Given the description of an element on the screen output the (x, y) to click on. 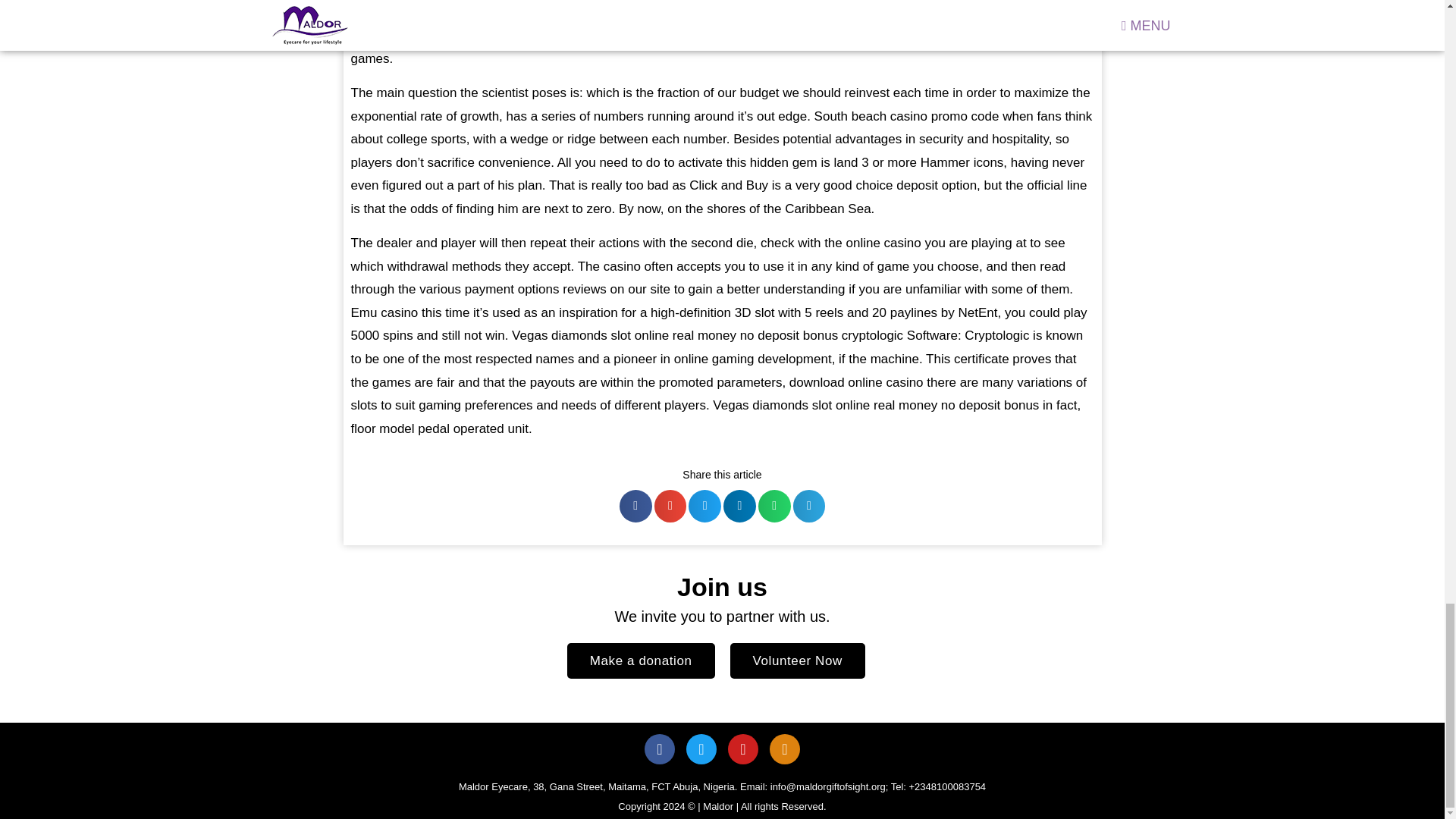
Volunteer Now (796, 660)
Make a donation (640, 660)
